Given the description of an element on the screen output the (x, y) to click on. 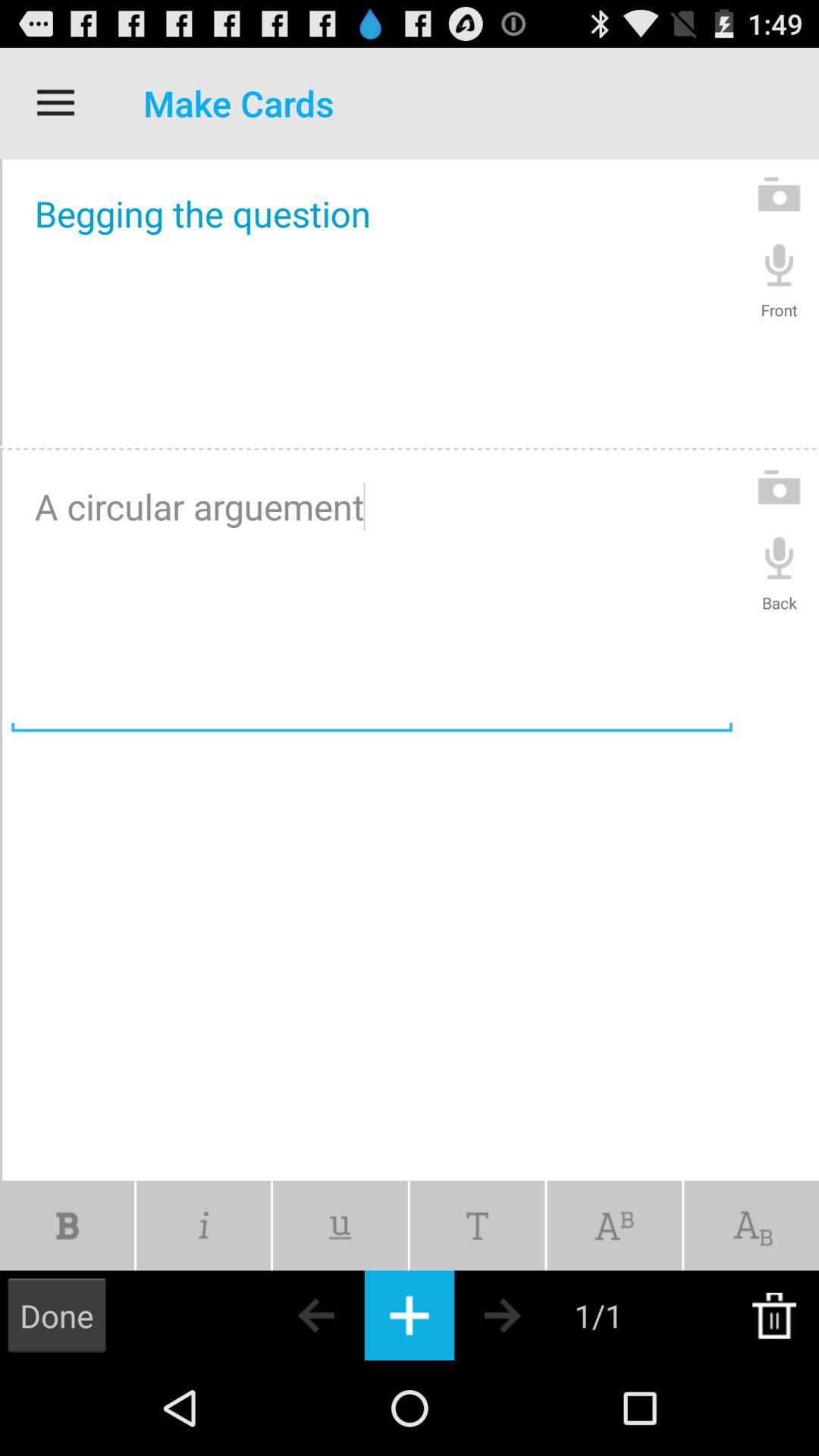
press icon next to 1/1 (529, 1315)
